Given the description of an element on the screen output the (x, y) to click on. 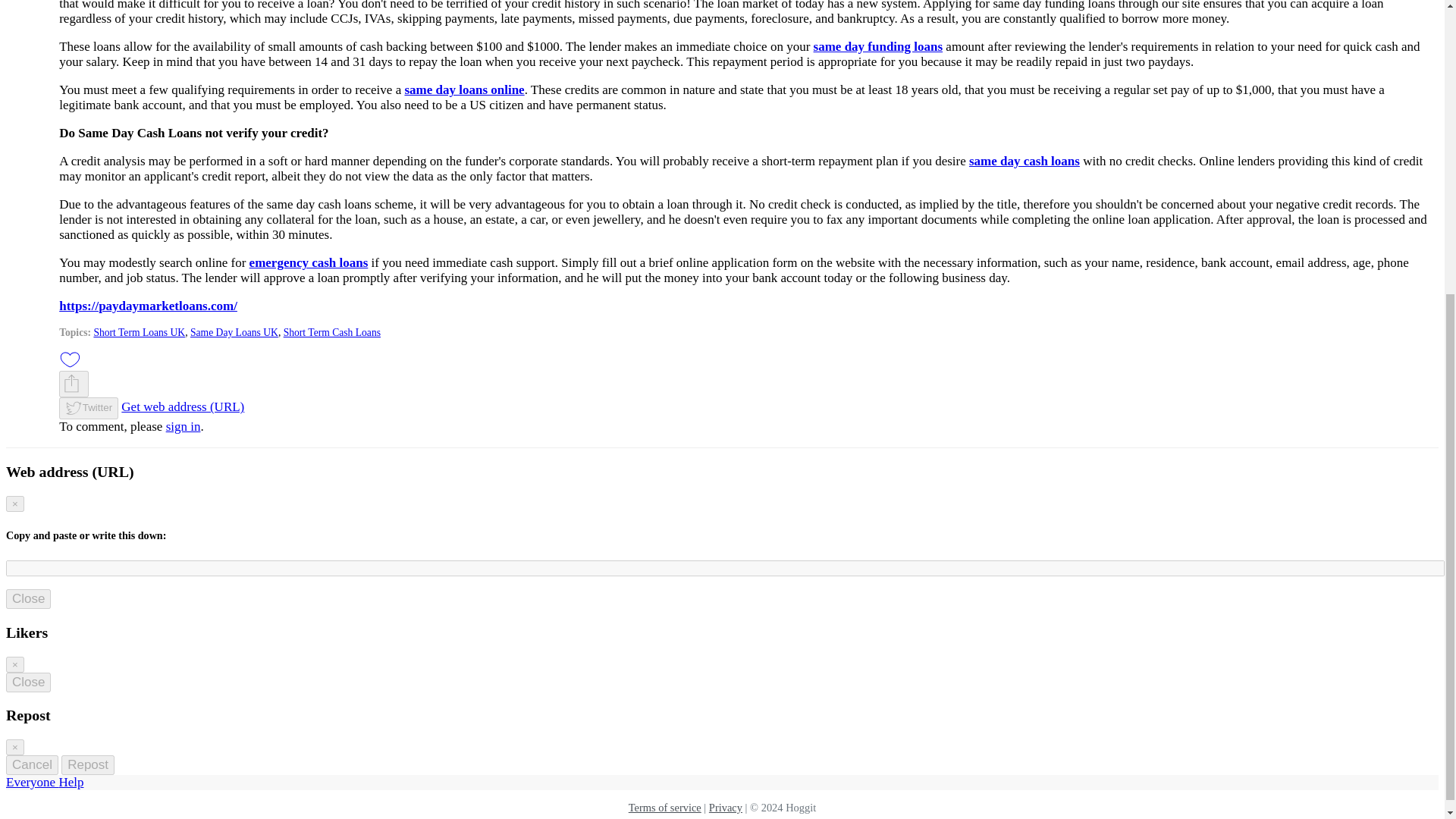
Repost (88, 764)
Terms of service (664, 807)
Close (27, 598)
sign in (182, 426)
Share (71, 383)
Help (70, 781)
Everyone (31, 781)
Share (73, 384)
Same Day Loans UK (234, 332)
same day cash loans (1024, 160)
